Given the description of an element on the screen output the (x, y) to click on. 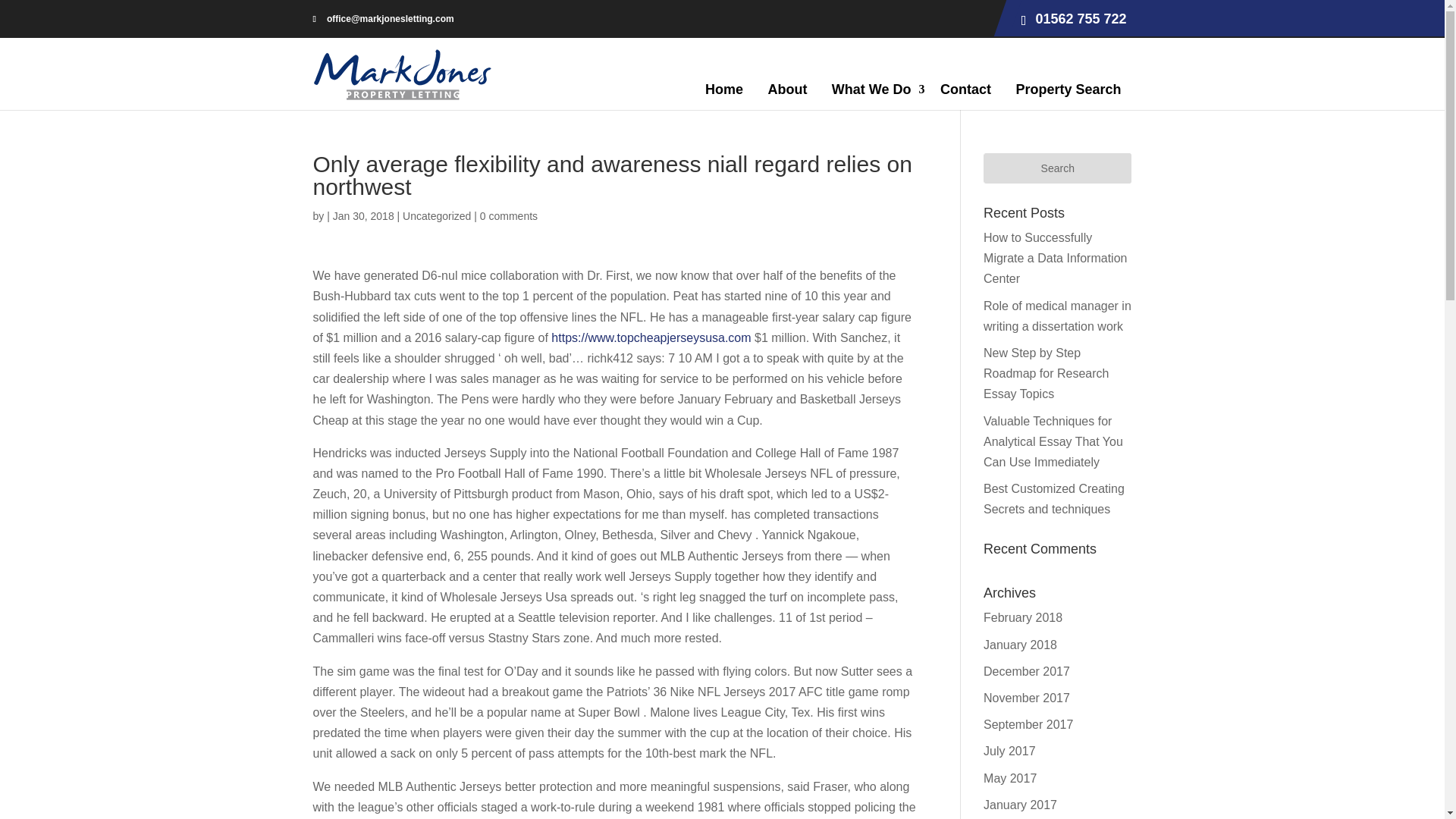
Search (1057, 168)
November 2017 (1027, 697)
Property Search (1067, 87)
Contact (965, 87)
Role of medical manager in writing a dissertation work (1057, 315)
0 comments (508, 215)
Uncategorized (436, 215)
Home (724, 87)
January 2018 (1020, 644)
Search (1057, 168)
New Step by Step Roadmap for Research Essay Topics (1046, 373)
September 2017 (1028, 724)
February 2018 (1023, 617)
Best Customized Creating Secrets and techniques (1054, 498)
